Given the description of an element on the screen output the (x, y) to click on. 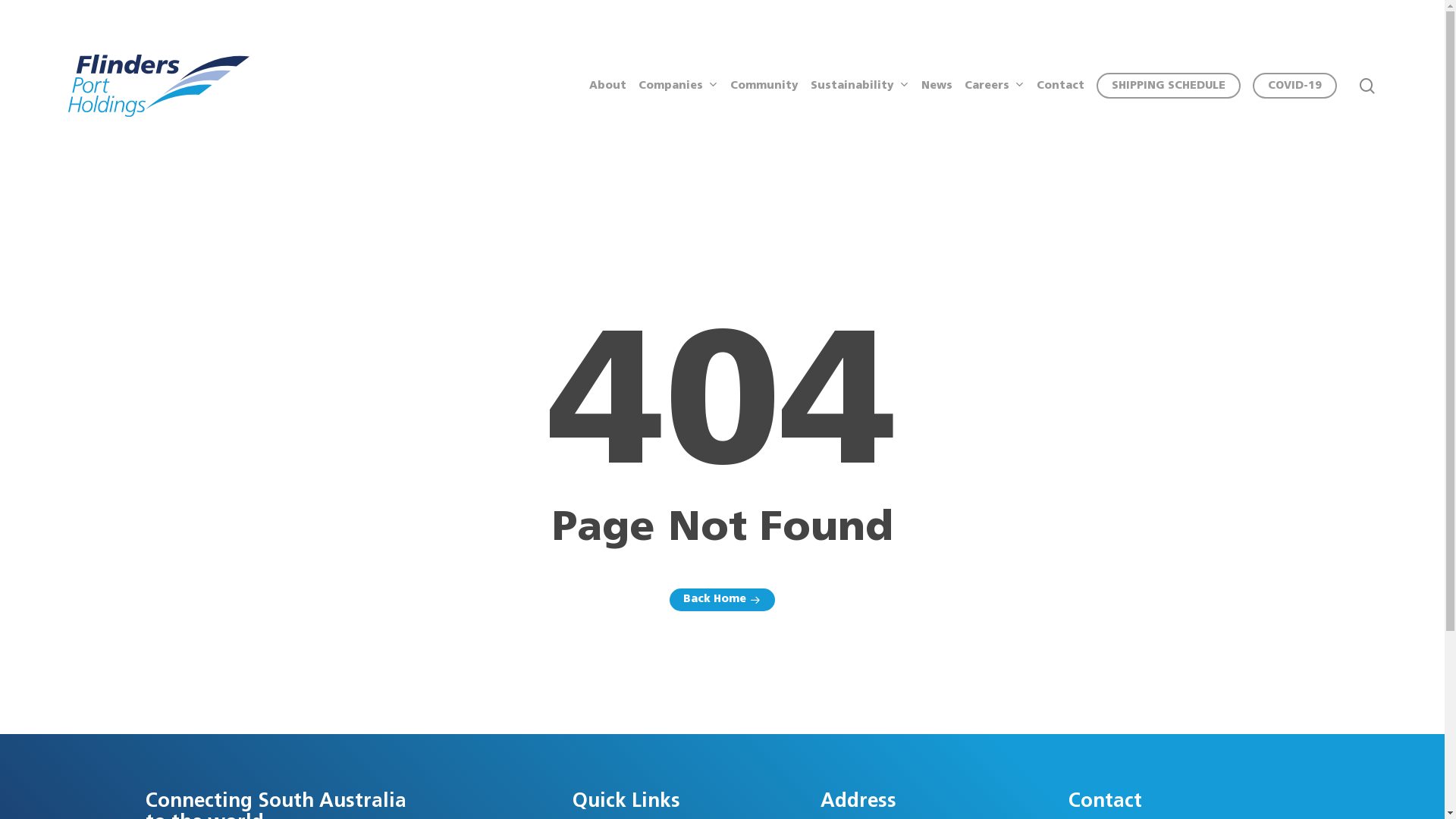
Sustainability Element type: text (859, 85)
Community Element type: text (764, 85)
Companies Element type: text (678, 85)
Careers Element type: text (994, 85)
Contact Element type: text (1060, 85)
COVID-19 Element type: text (1294, 85)
SHIPPING SCHEDULE Element type: text (1168, 85)
News Element type: text (936, 85)
search Element type: text (1367, 85)
About Element type: text (607, 85)
Back Home Element type: text (722, 599)
